Given the description of an element on the screen output the (x, y) to click on. 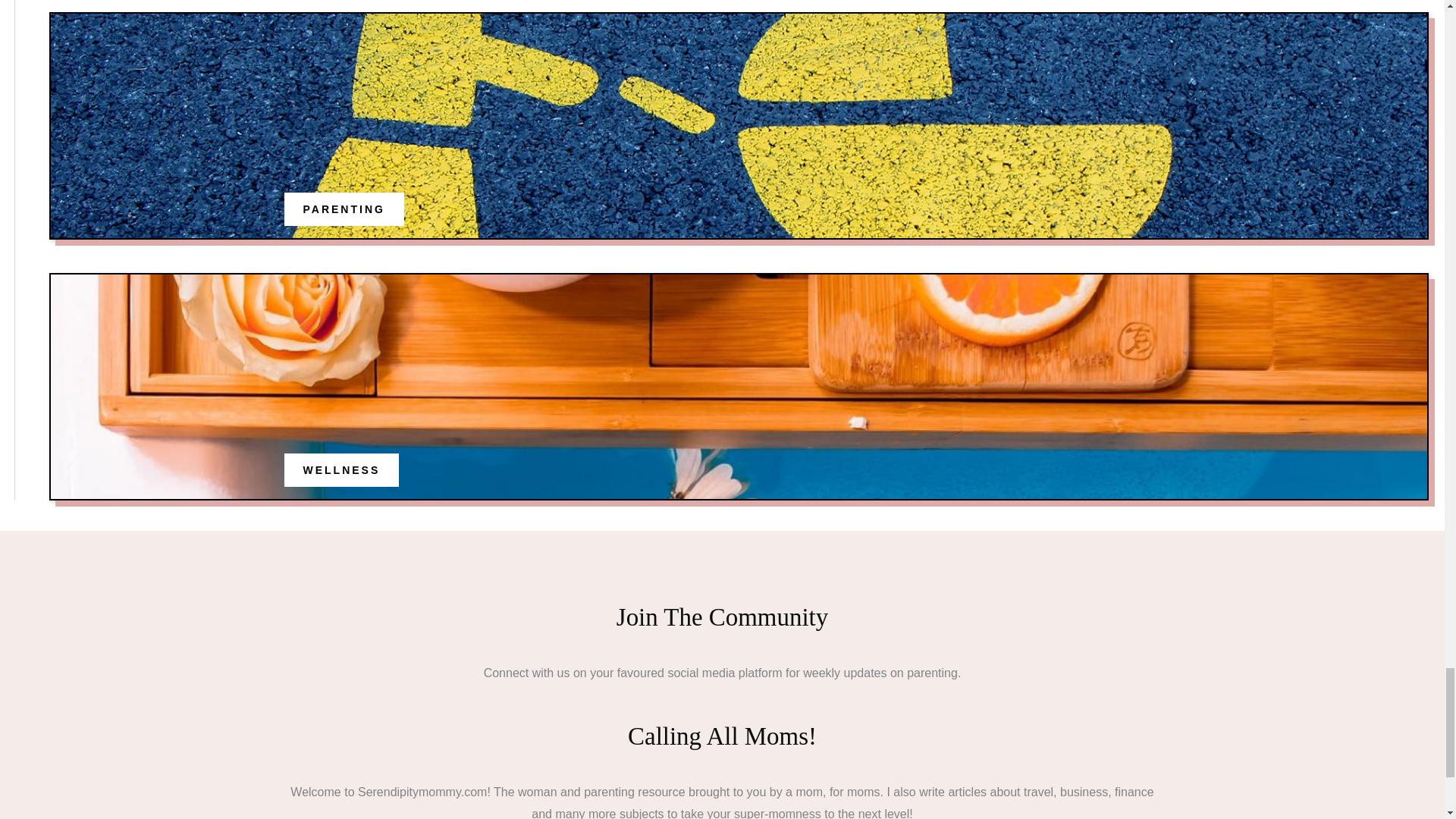
WELLNESS (341, 470)
PARENTING (344, 208)
